Given the description of an element on the screen output the (x, y) to click on. 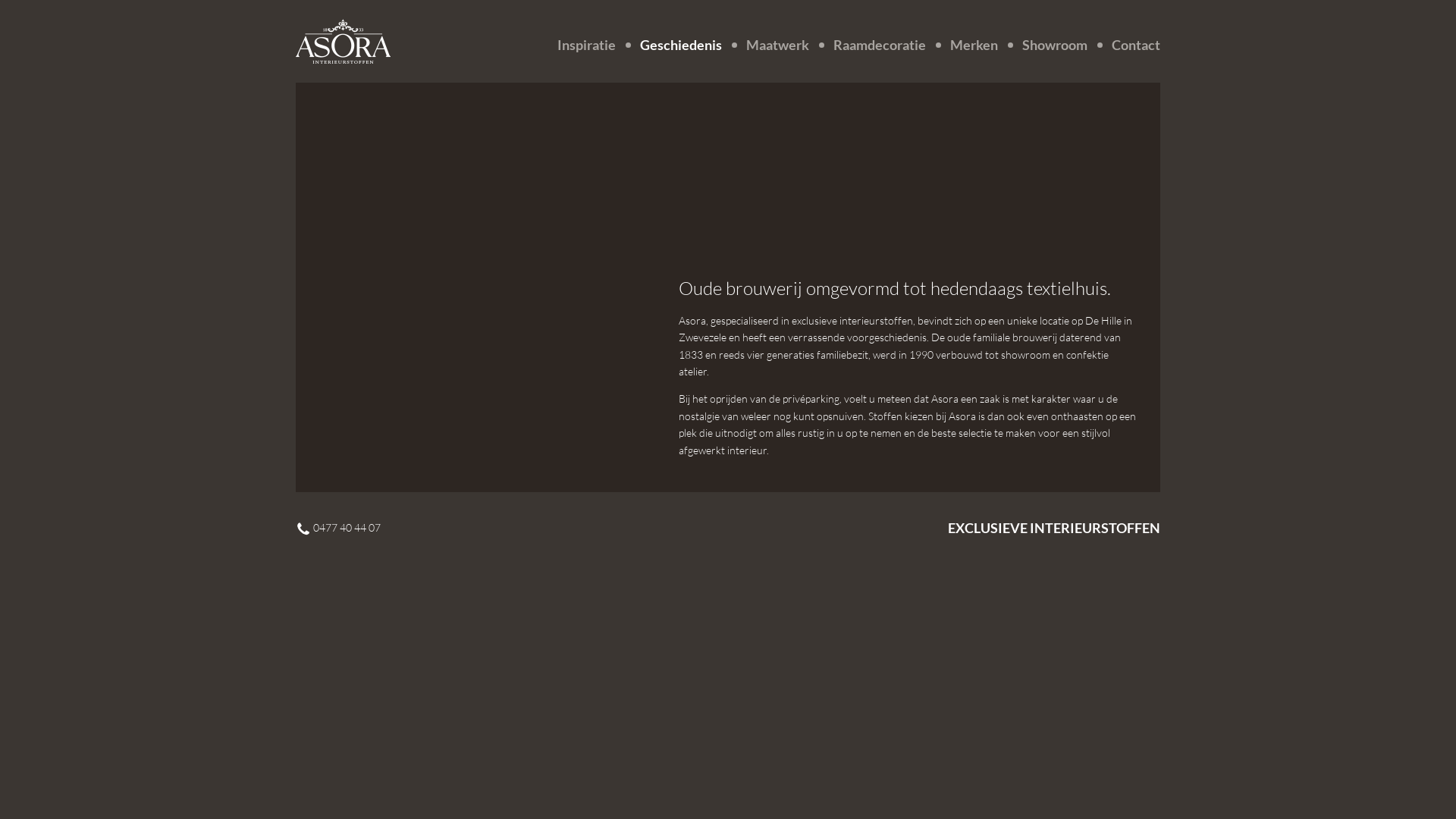
Showroom Element type: text (1058, 44)
Maatwerk Element type: text (781, 44)
Inspiratie Element type: text (593, 44)
Contact Element type: text (1132, 44)
Merken Element type: text (978, 44)
Raamdecoratie Element type: text (883, 44)
Geschiedenis Element type: text (685, 44)
